Given the description of an element on the screen output the (x, y) to click on. 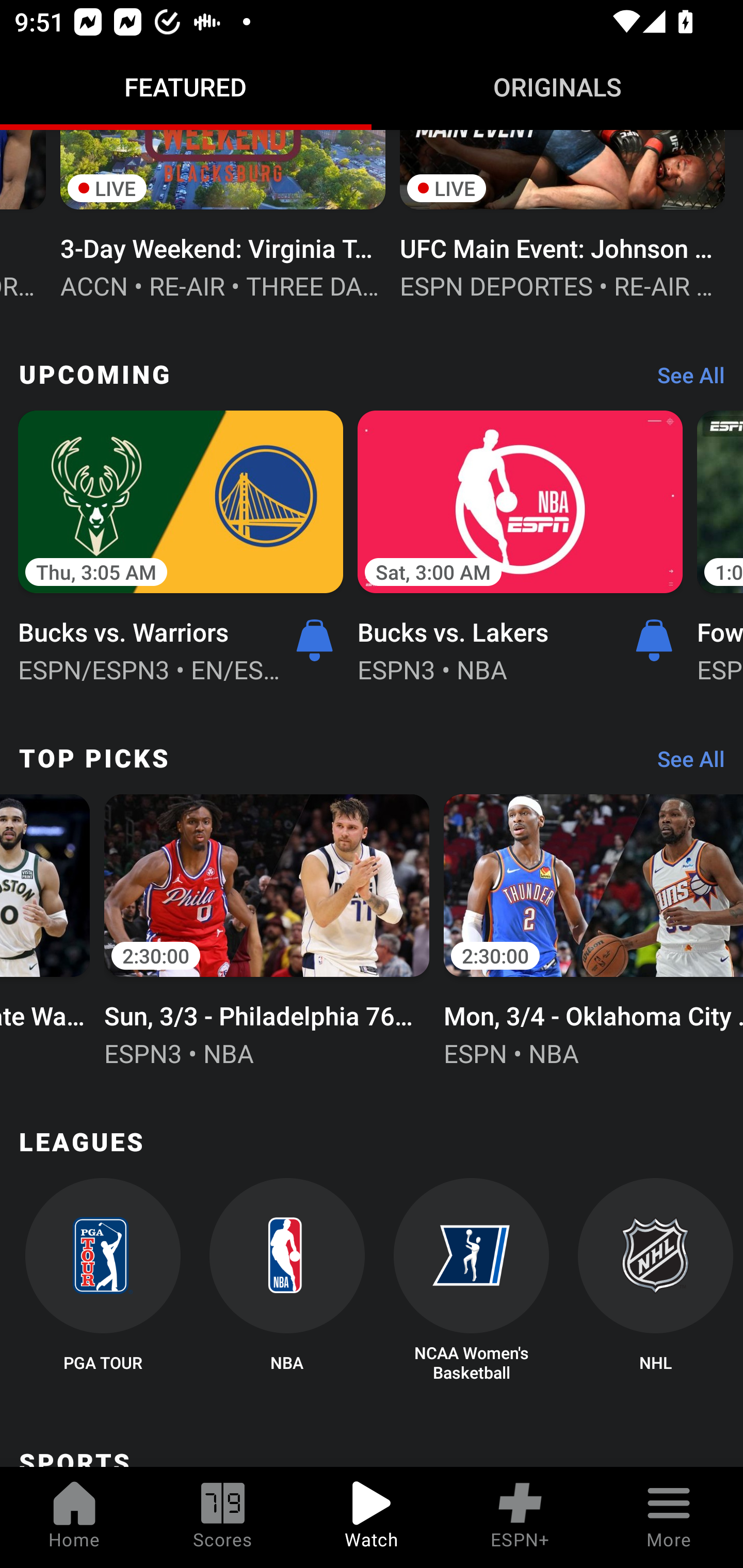
Originals ORIGINALS (557, 86)
See All (683, 379)
See All (683, 763)
PGA TOUR (102, 1280)
NBA (286, 1280)
NCAA Women's Basketball (471, 1280)
NHL (655, 1280)
Home (74, 1517)
Scores (222, 1517)
ESPN+ (519, 1517)
More (668, 1517)
